Given the description of an element on the screen output the (x, y) to click on. 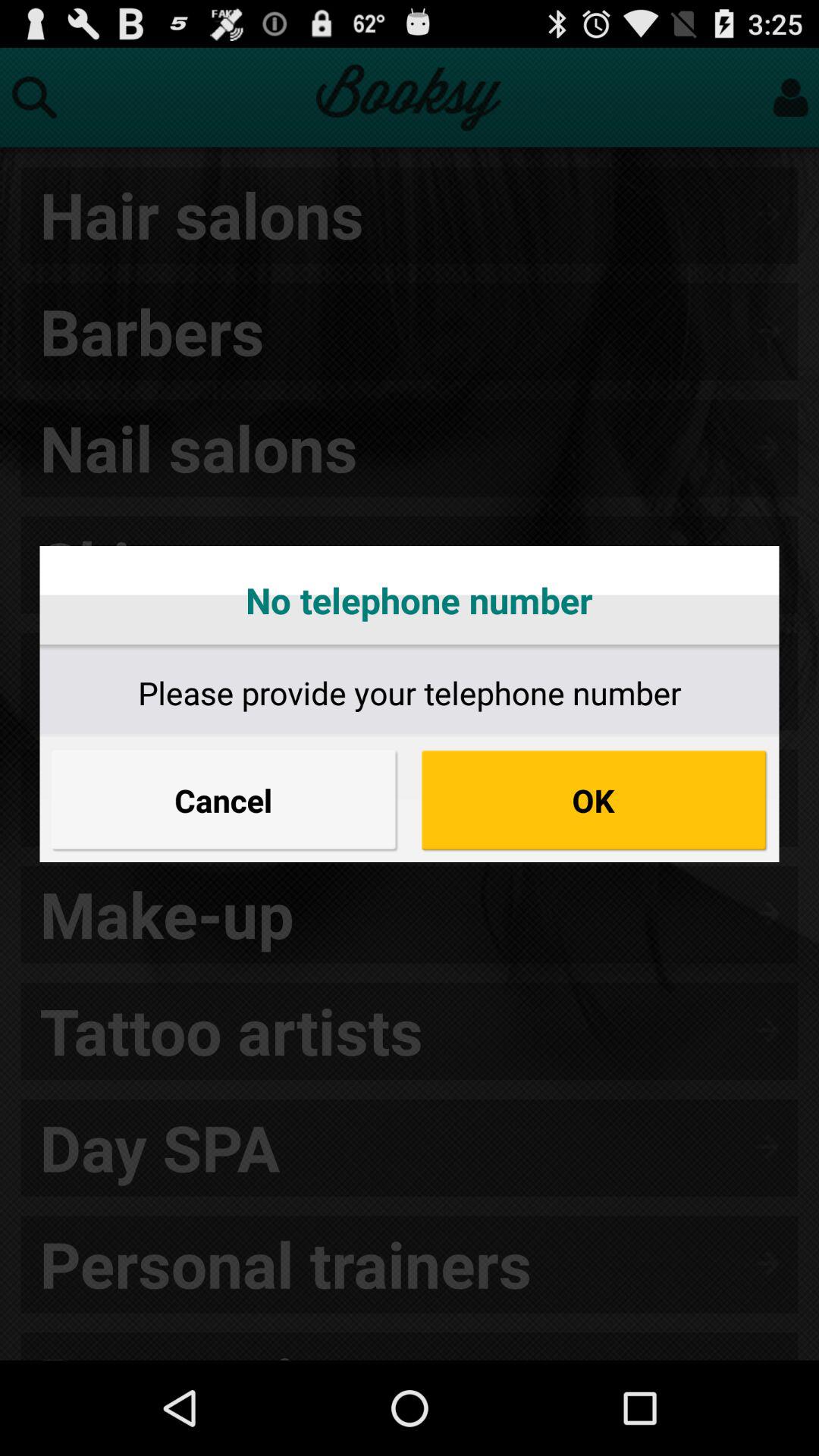
select cancel button (224, 799)
